Given the description of an element on the screen output the (x, y) to click on. 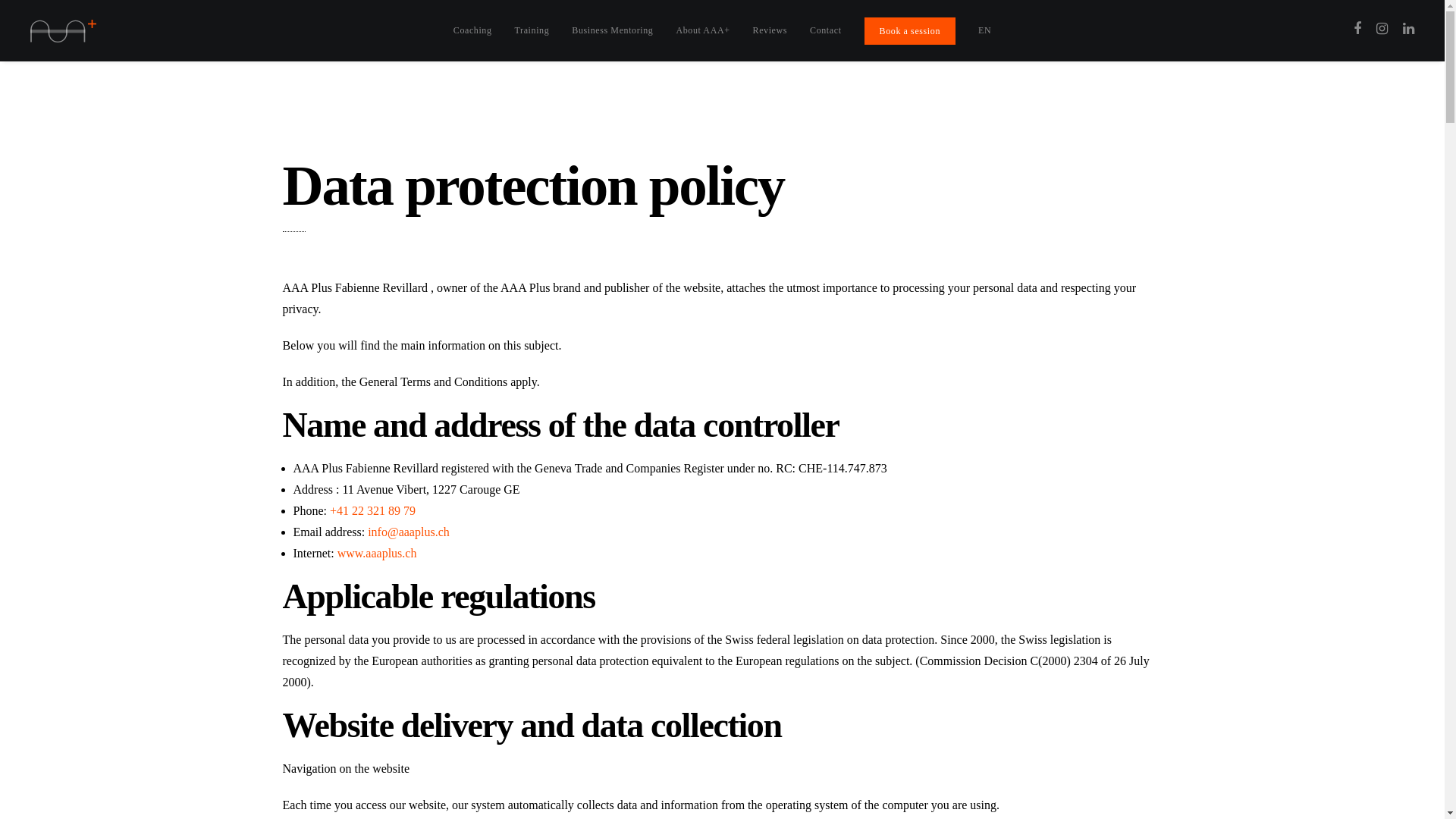
Coaching Element type: text (472, 30)
Training Element type: text (531, 30)
Reviews Element type: text (770, 30)
www.aaaplus.ch Element type: text (377, 552)
EN Element type: text (984, 30)
Contact Element type: text (825, 30)
Book a session Element type: text (909, 30)
Business Mentoring Element type: text (611, 30)
+41 22 321 89 79 Element type: text (372, 510)
About AAA+ Element type: text (702, 30)
info@aaaplus.ch Element type: text (408, 531)
